Given the description of an element on the screen output the (x, y) to click on. 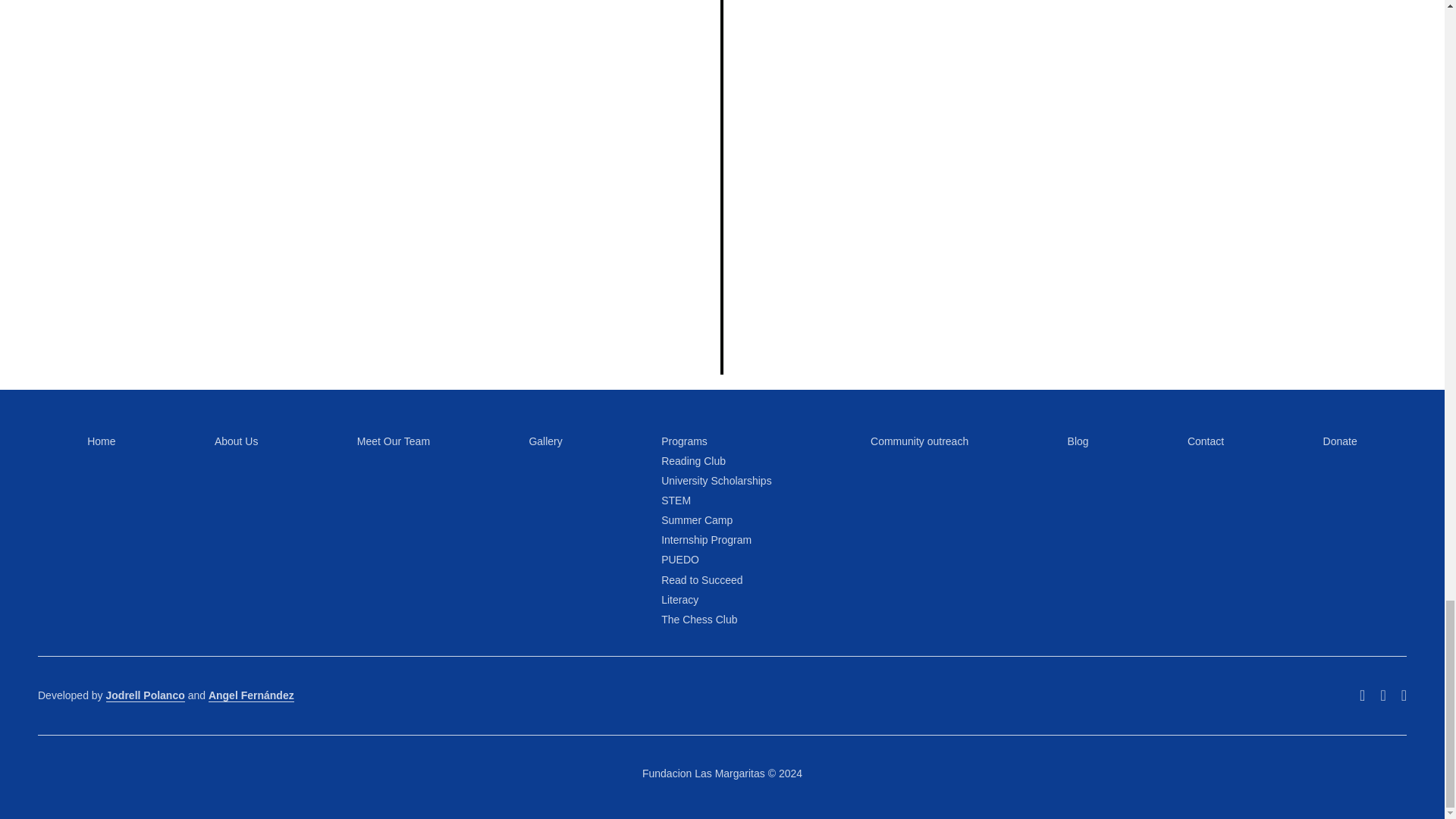
Literacy (679, 599)
STEM (675, 500)
University Scholarships (716, 480)
About Us (236, 440)
Contact (1206, 440)
Gallery (545, 440)
Read to Succeed (701, 580)
Internship Program (706, 539)
The Chess Club (698, 619)
Donate (1339, 440)
